Given the description of an element on the screen output the (x, y) to click on. 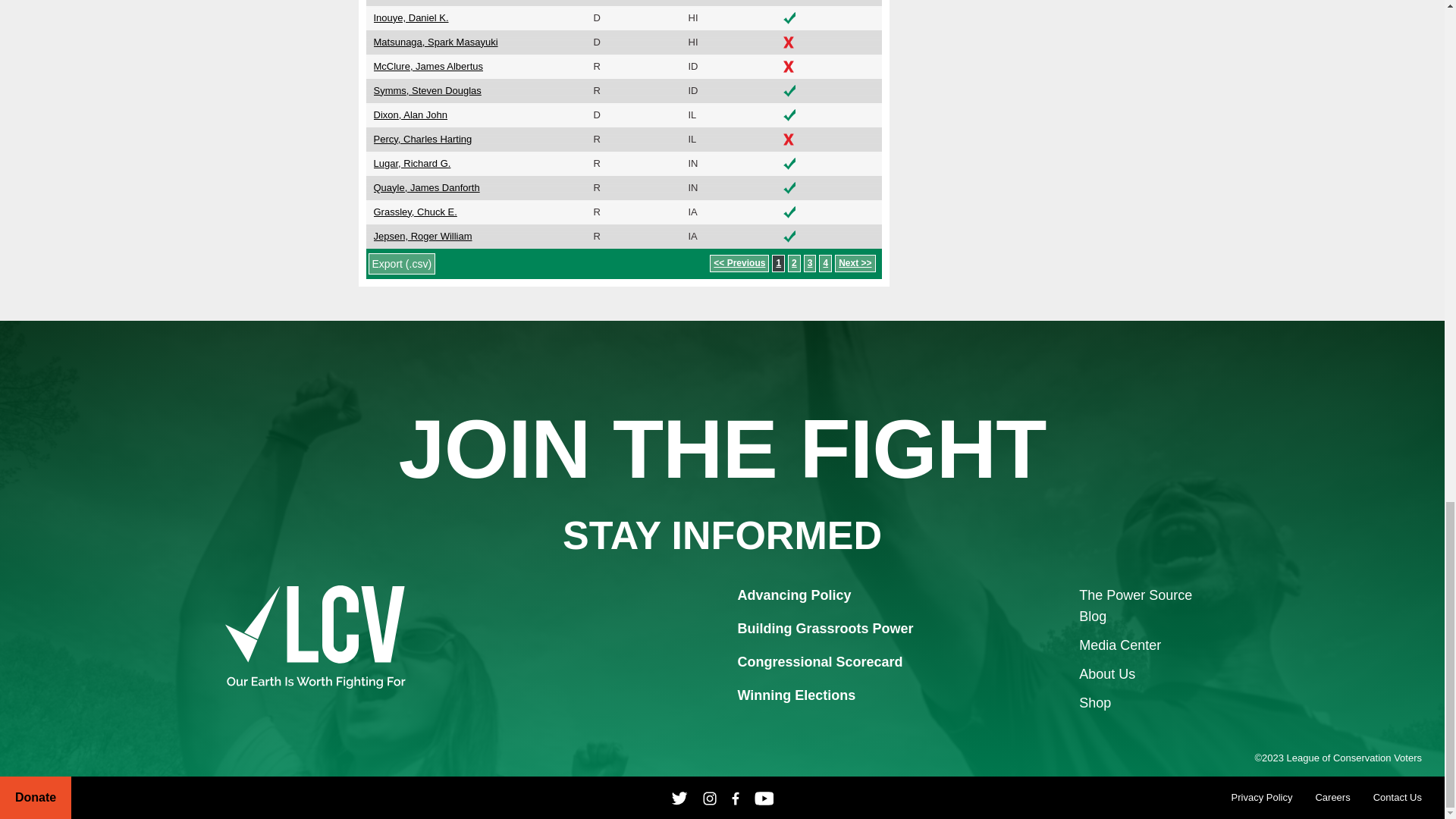
Instagram (709, 797)
Twitter (679, 797)
YouTube (764, 797)
